Given the description of an element on the screen output the (x, y) to click on. 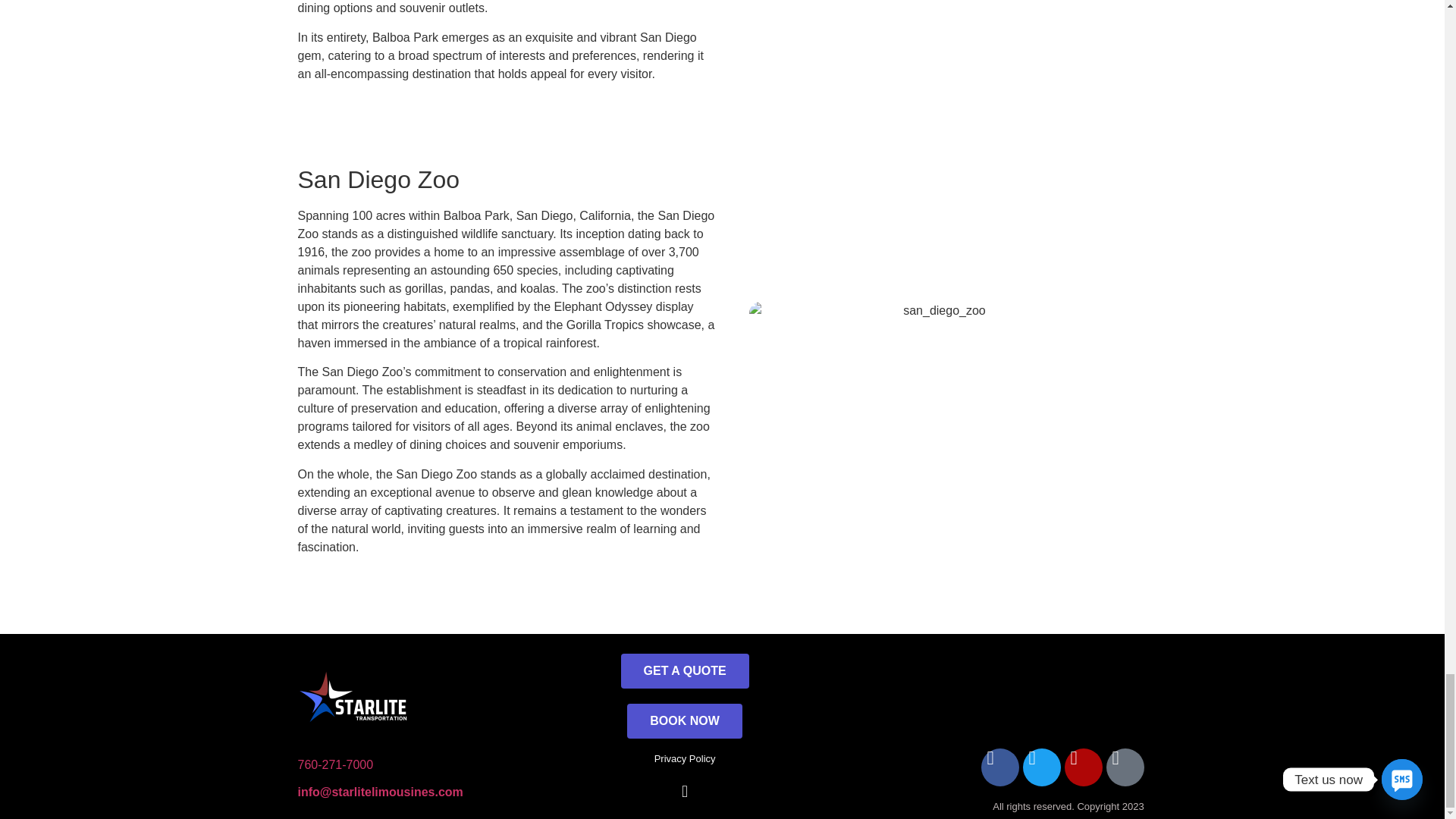
BOOK NOW (684, 720)
Privacy Policy (684, 758)
760-271-7000 (334, 764)
GET A QUOTE (685, 670)
